Given the description of an element on the screen output the (x, y) to click on. 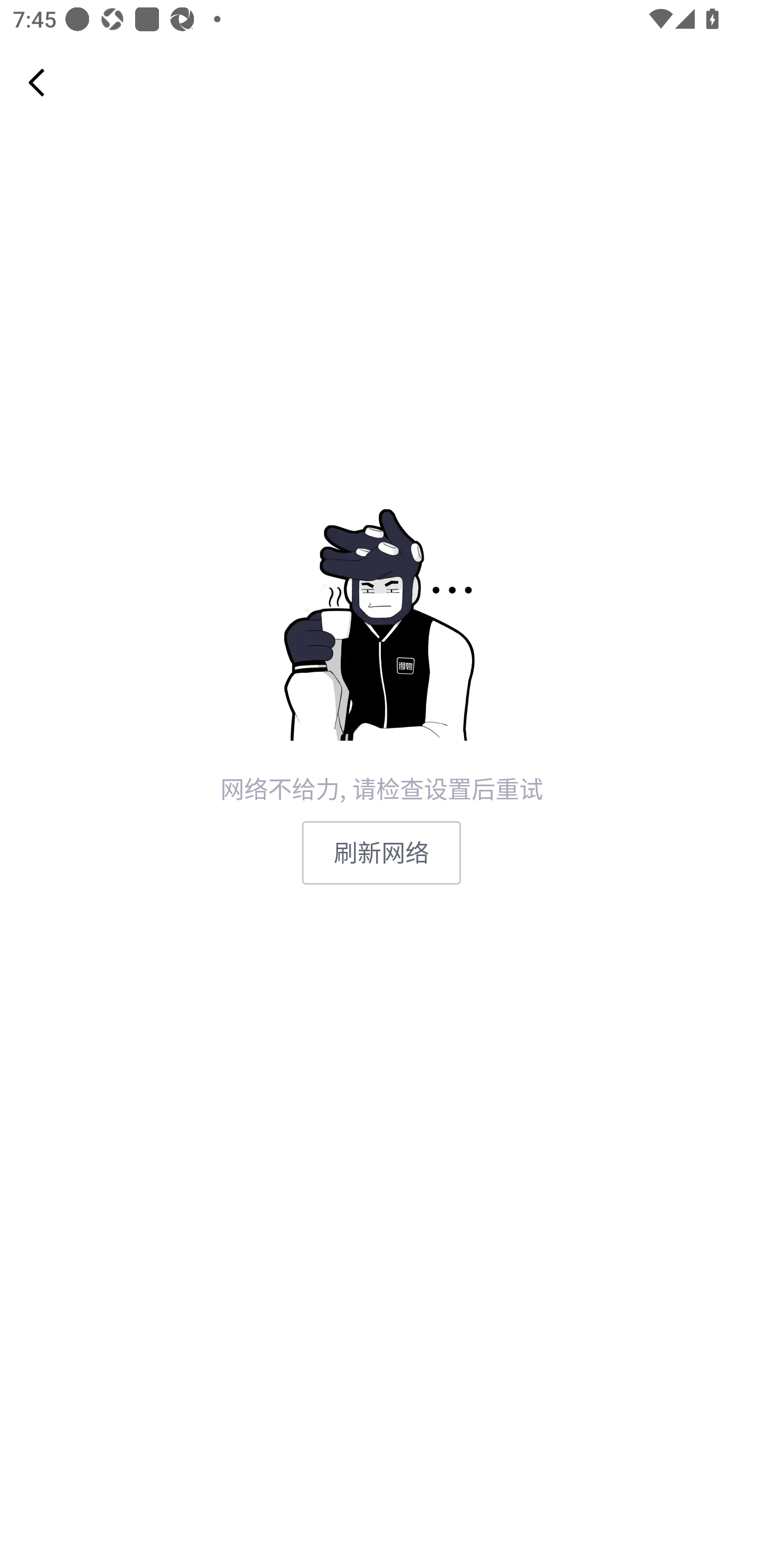
Navigate up (36, 82)
刷新网络 (381, 852)
